Given the description of an element on the screen output the (x, y) to click on. 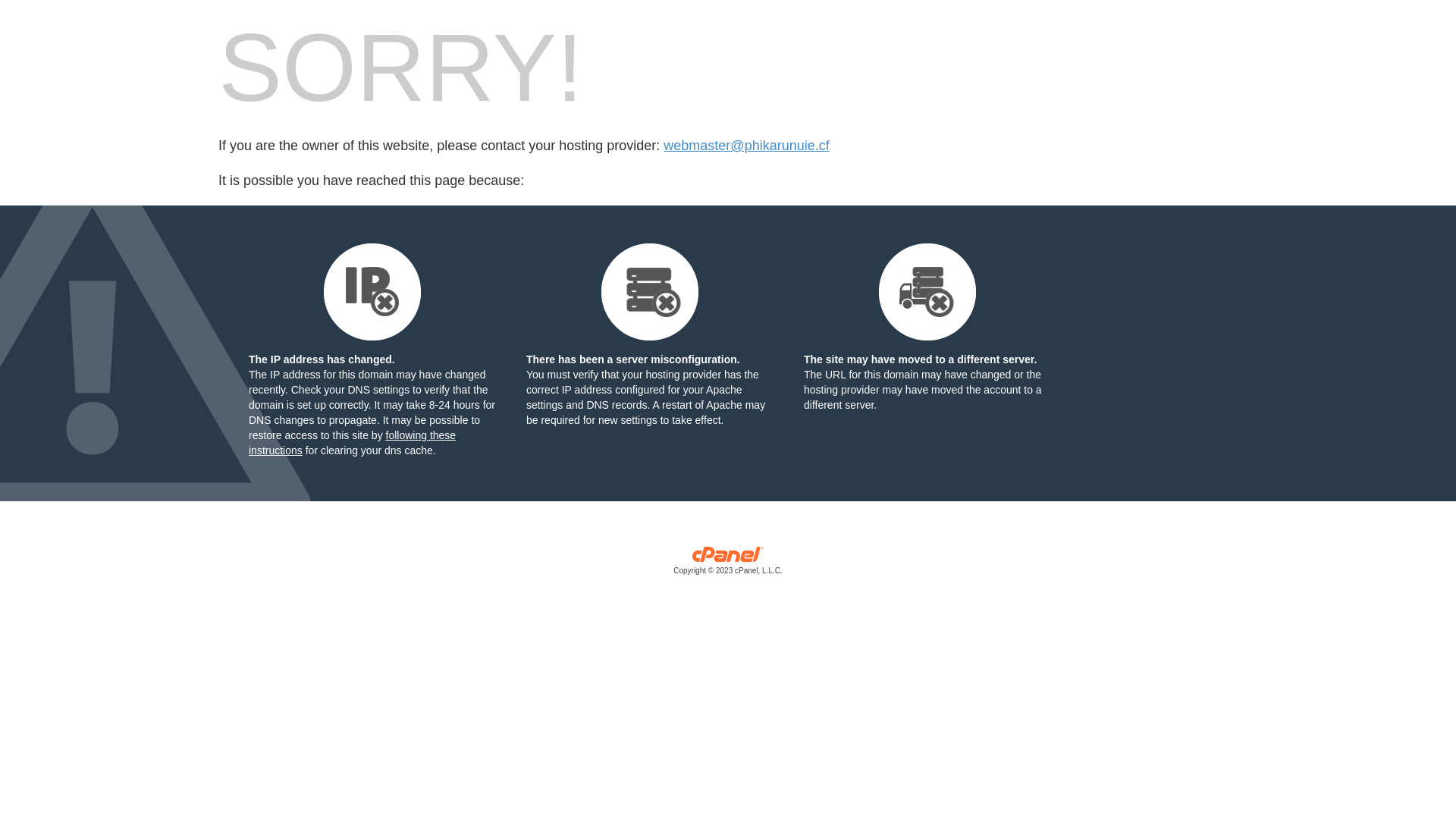
following these instructions Element type: text (351, 442)
webmaster@phikarunuie.cf Element type: text (745, 145)
